Given the description of an element on the screen output the (x, y) to click on. 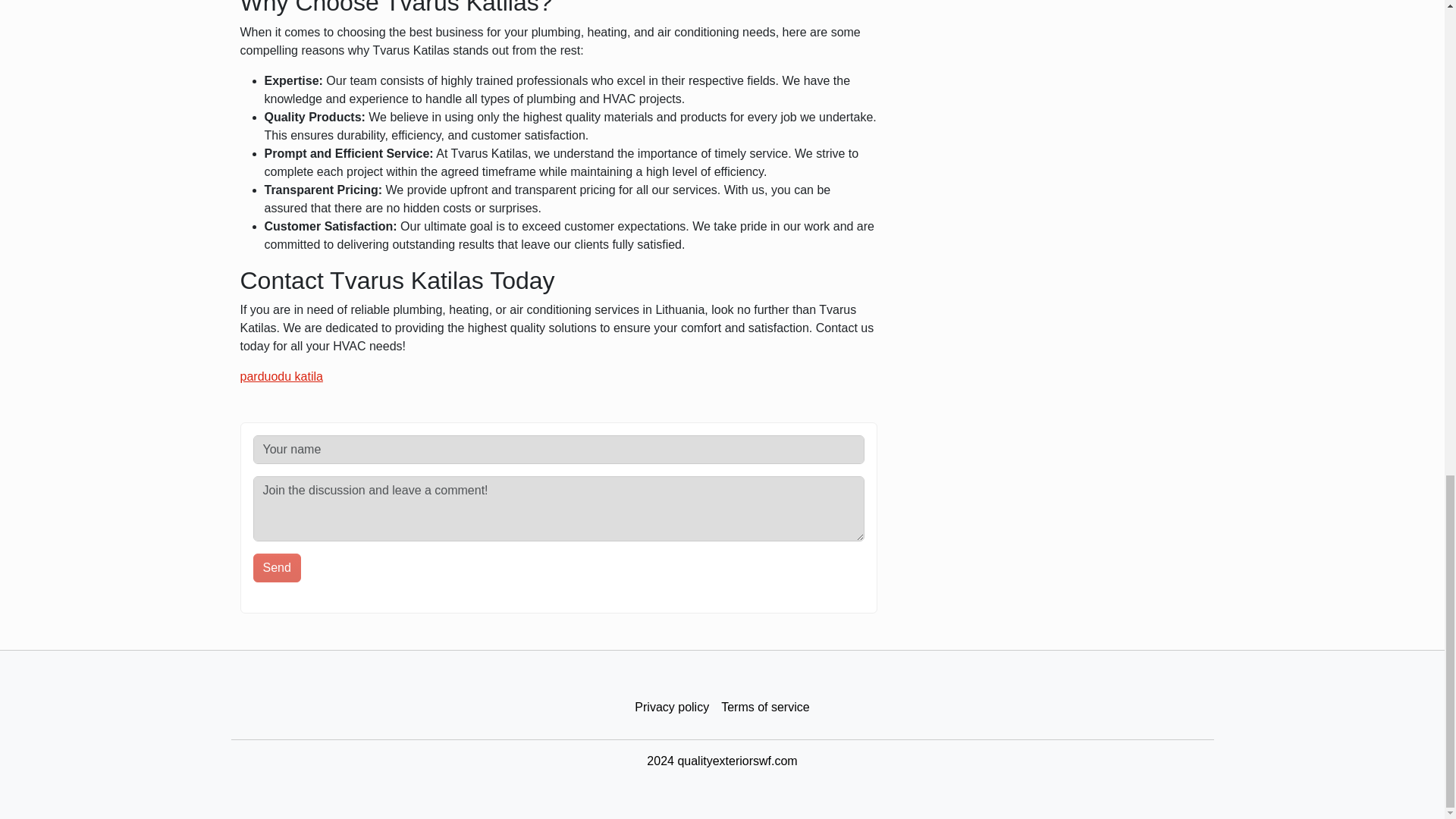
parduodu katila (280, 376)
Send (277, 567)
Send (277, 567)
